Given the description of an element on the screen output the (x, y) to click on. 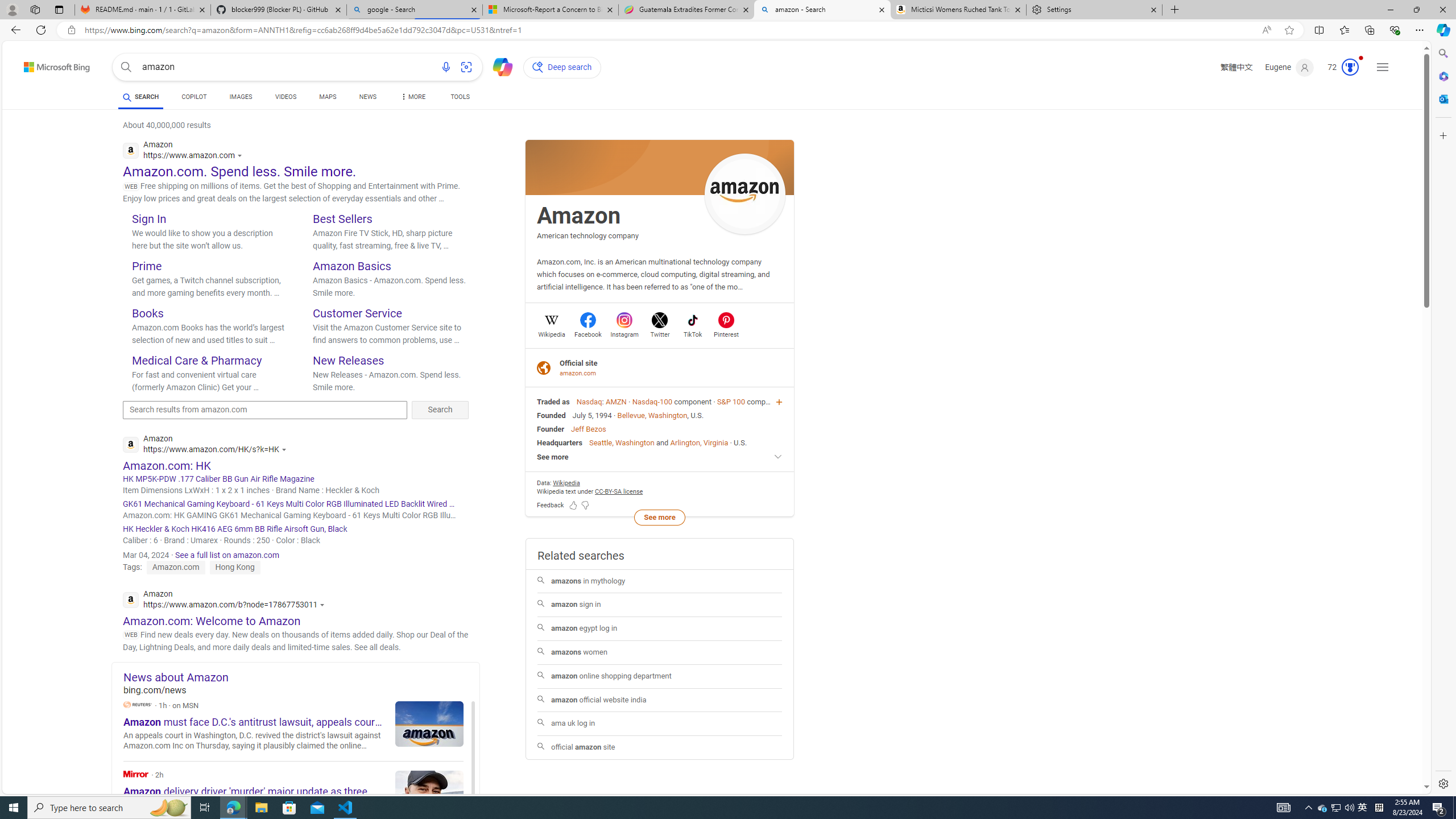
Feedback Like (573, 504)
amazons in mythology (659, 580)
Chat (497, 65)
Amazon.com. Spend less. Smile more. (239, 170)
CC-BY-SA license (619, 491)
NEWS (367, 98)
TikTok (692, 333)
amazon official website india (659, 699)
Prime (146, 265)
Back to Bing search (50, 64)
Instagram (624, 333)
